Given the description of an element on the screen output the (x, y) to click on. 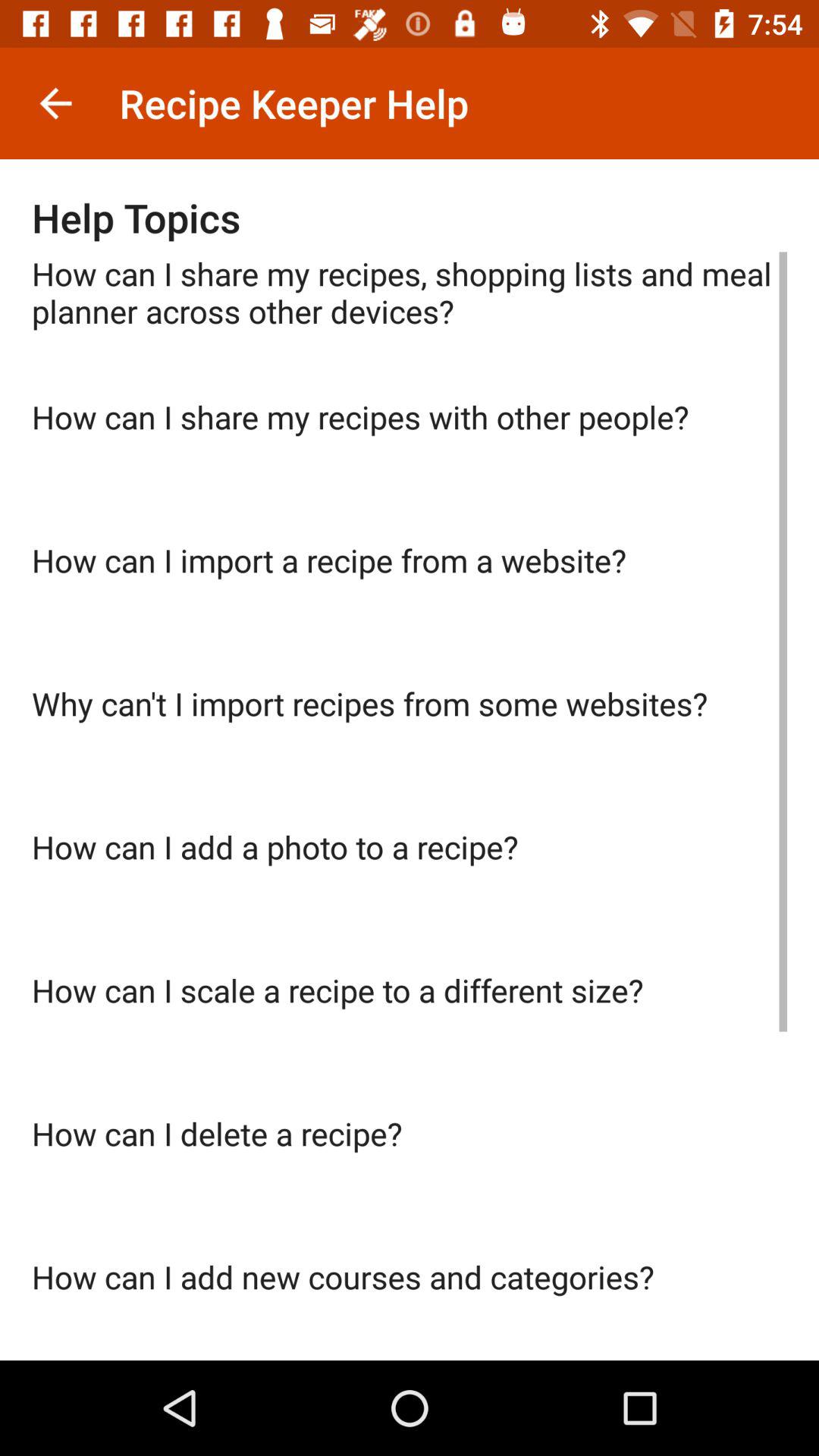
press the why can t (409, 753)
